Given the description of an element on the screen output the (x, y) to click on. 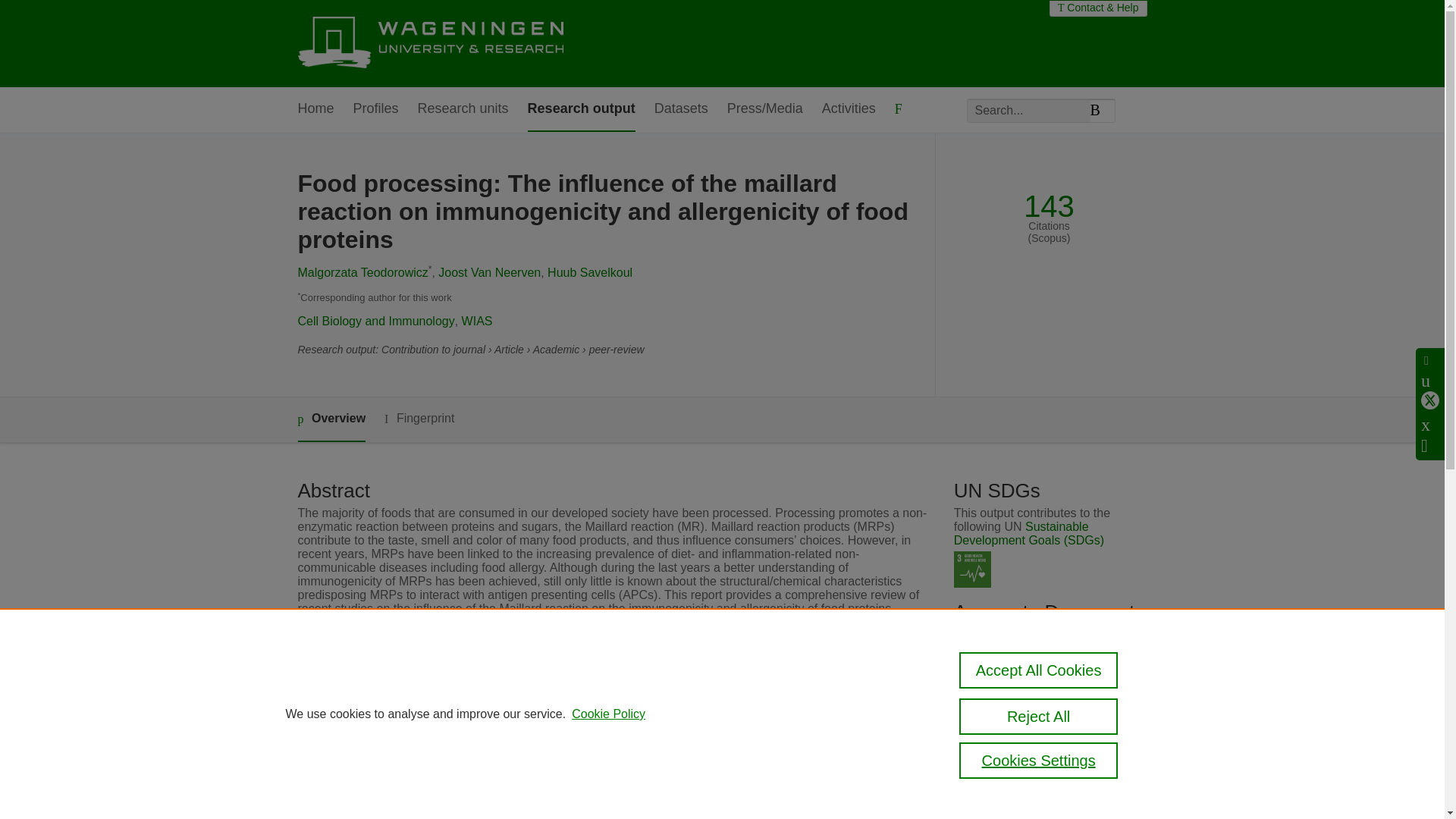
Huub Savelkoul (589, 272)
Research units (462, 108)
143 (1048, 206)
Malgorzata Teodorowicz (362, 272)
WIAS (477, 320)
Cell Biology and Immunology (375, 320)
Profiles (375, 108)
Overview (331, 419)
SDG 3 - Good Health and Well-being (972, 569)
Joost Van Neerven (489, 272)
Fingerprint (419, 418)
Activities (849, 108)
CC BY (1020, 649)
Datasets (680, 108)
